Given the description of an element on the screen output the (x, y) to click on. 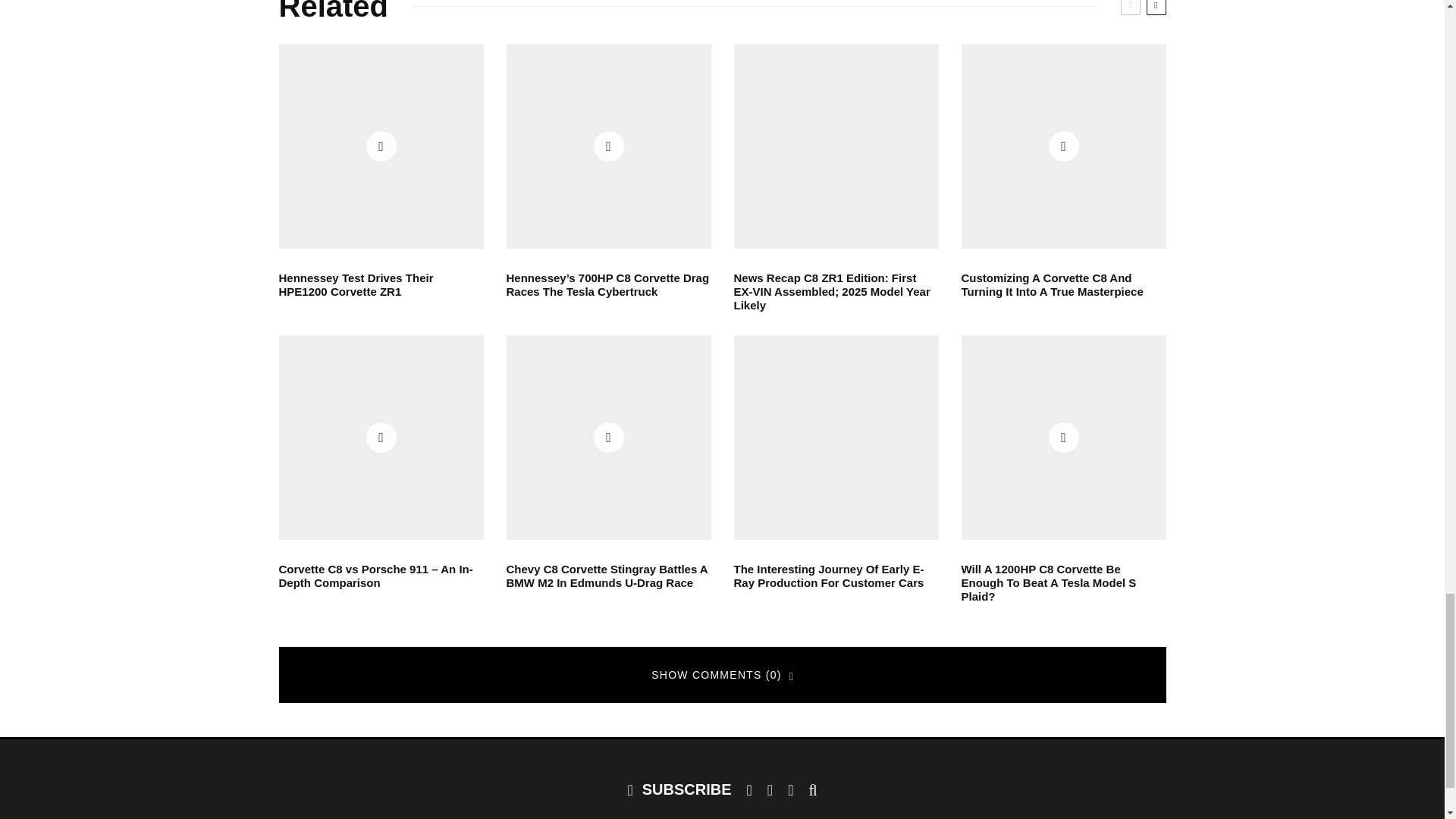
maxresdefault (381, 146)
maxresdefault (608, 436)
maxresdefault (608, 146)
New ZR1 Spied (836, 146)
